Given the description of an element on the screen output the (x, y) to click on. 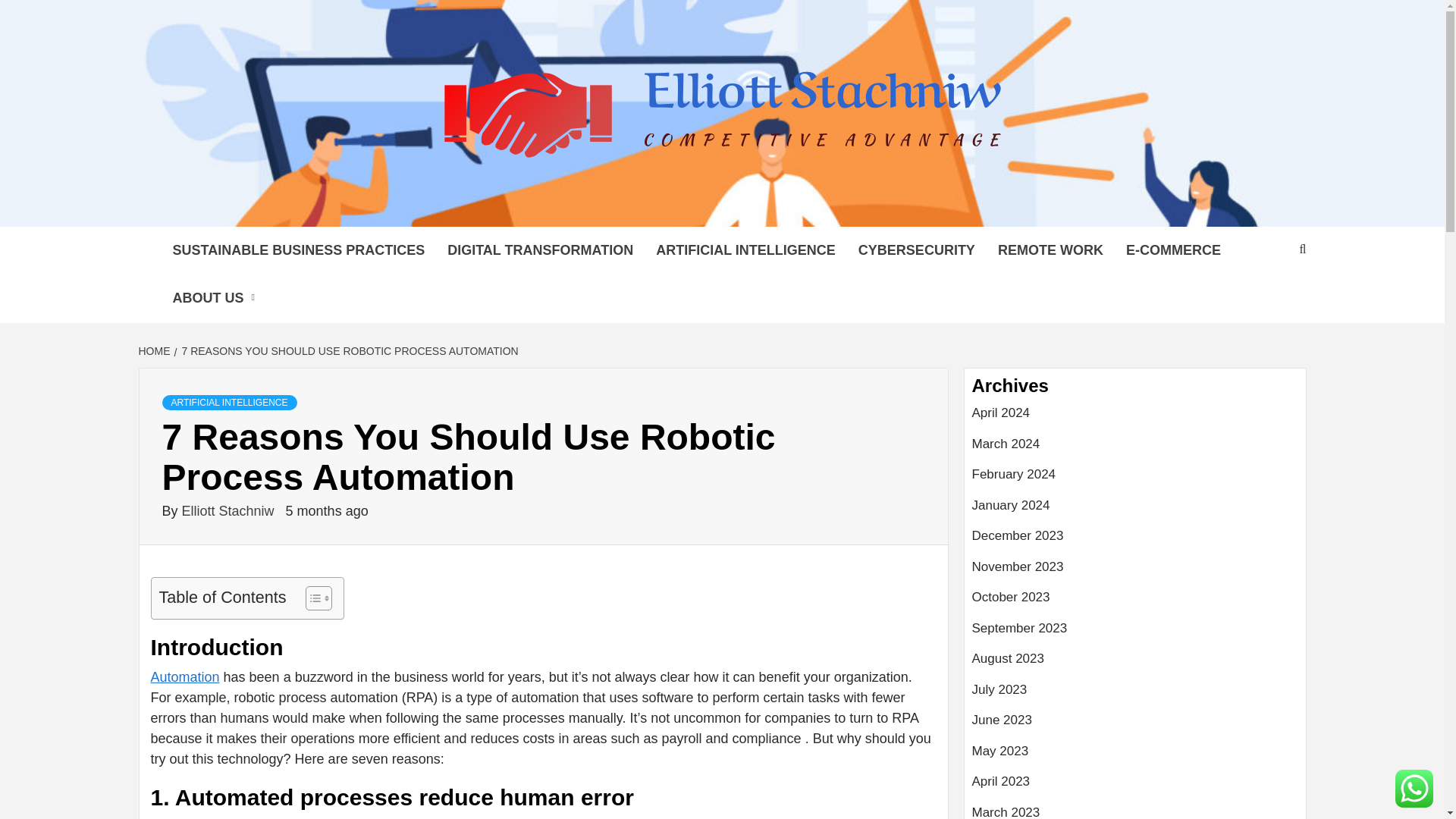
ARTIFICIAL INTELLIGENCE (229, 402)
March 2024 (1135, 450)
REMOTE WORK (1051, 250)
SUSTAINABLE BUSINESS PRACTICES (297, 250)
Elliott Stachniw (230, 510)
ABOUT US (216, 298)
HOME (155, 350)
E-COMMERCE (1173, 250)
April 2024 (1135, 418)
ARTIFICIAL INTELLIGENCE (746, 250)
